Given the description of an element on the screen output the (x, y) to click on. 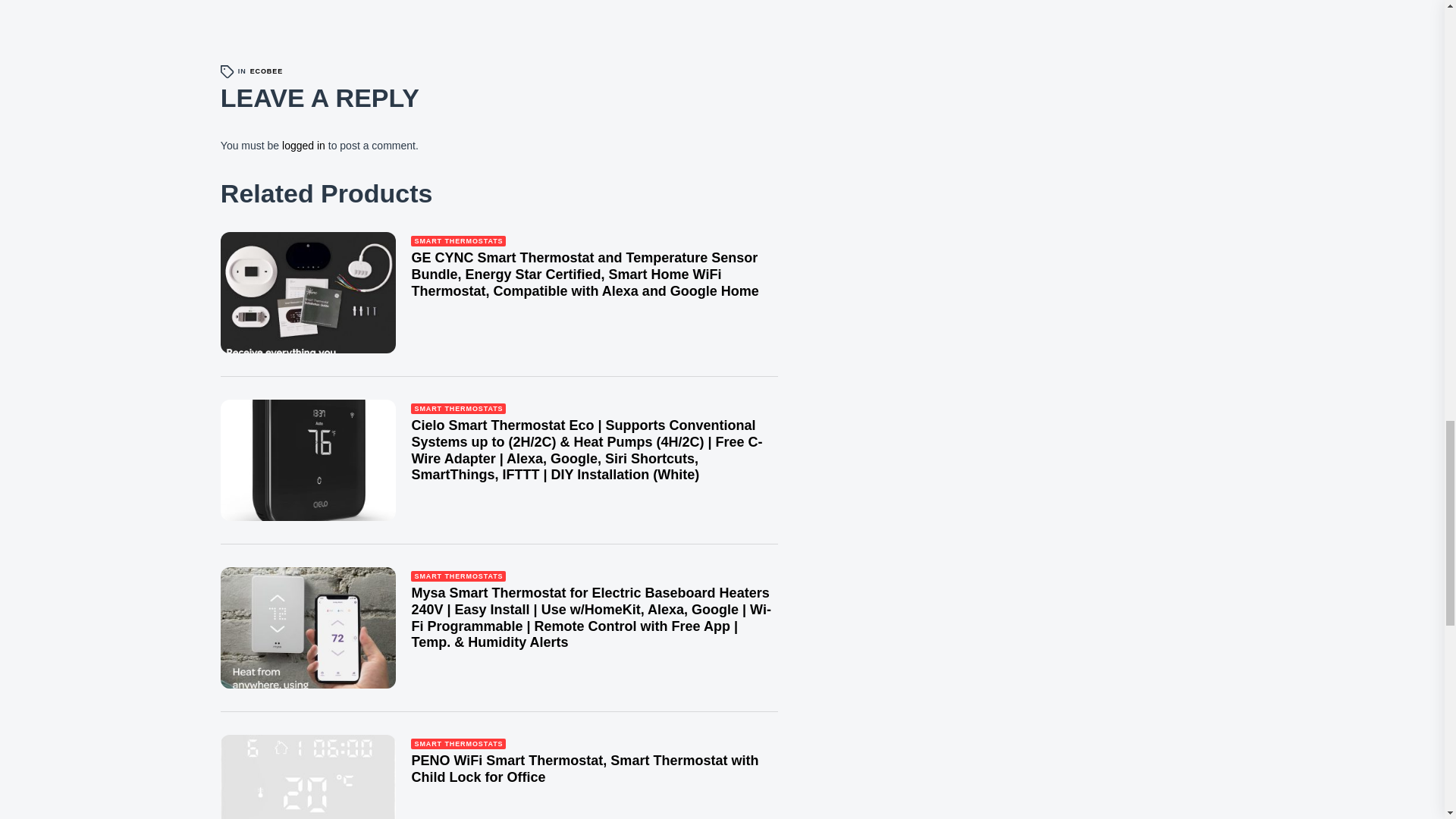
logged in (303, 145)
SMART THERMOSTATS (457, 241)
SMART THERMOSTATS (457, 576)
SMART THERMOSTATS (457, 408)
SMART THERMOSTATS (457, 744)
ECOBEE (266, 71)
